Given the description of an element on the screen output the (x, y) to click on. 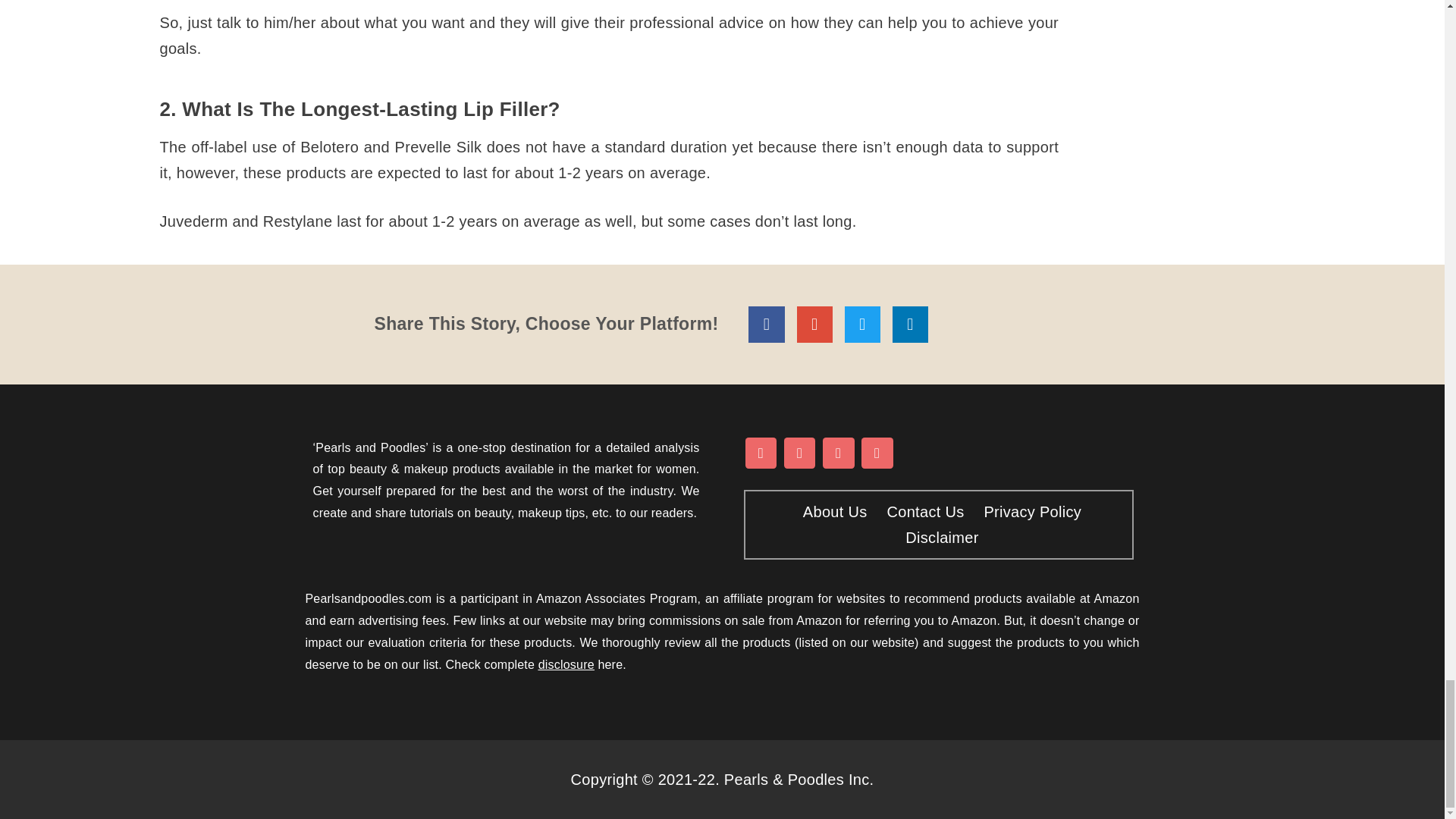
About Us (830, 511)
disclosure (566, 664)
Contact Us (921, 511)
Disclaimer (938, 537)
Privacy Policy (1028, 511)
